Given the description of an element on the screen output the (x, y) to click on. 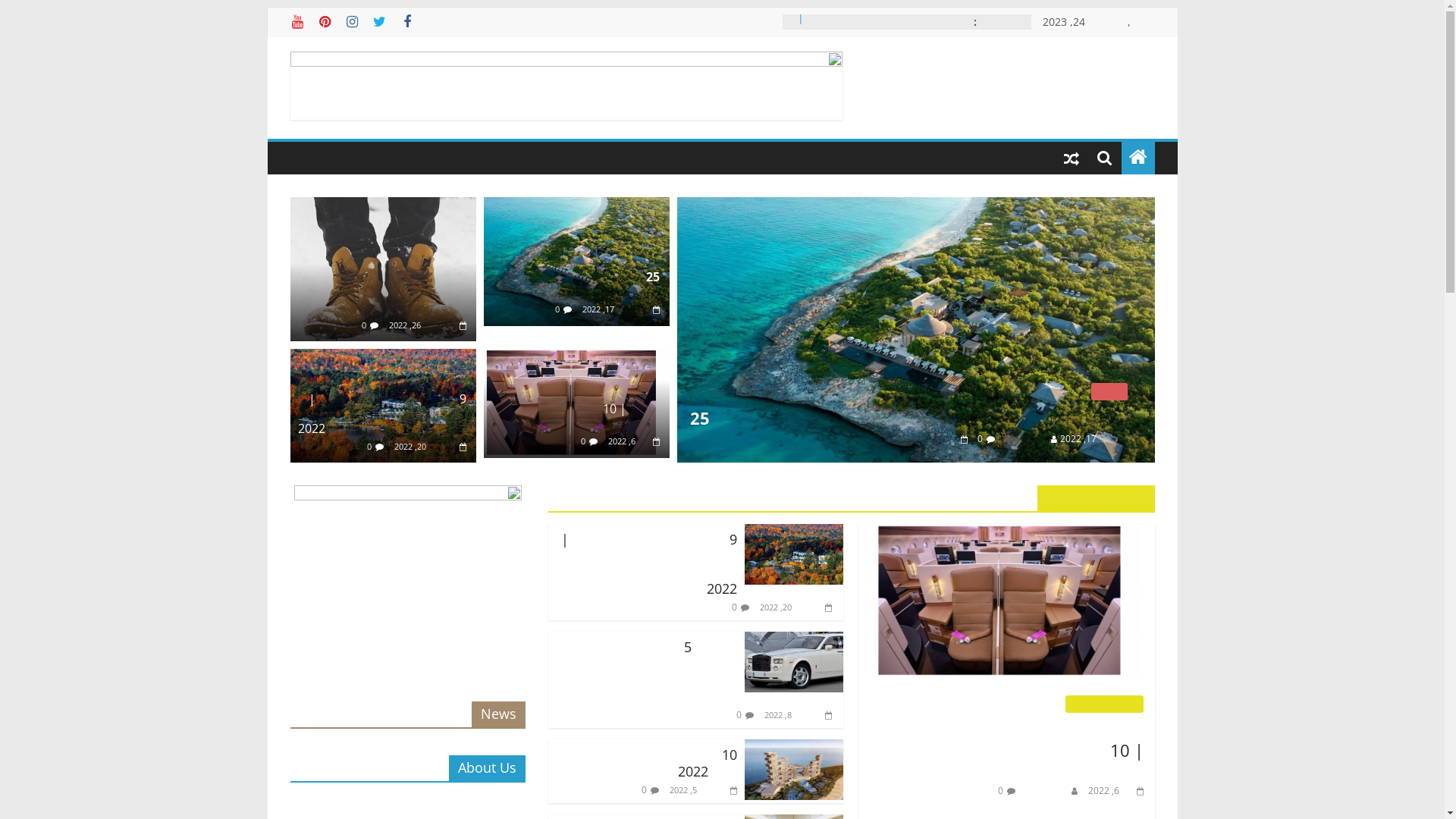
Skip to content Element type: text (1176, 6)
0 Element type: text (369, 445)
0 Element type: text (979, 489)
0 Element type: text (363, 324)
0 Element type: text (738, 758)
0 Element type: text (582, 440)
0 Element type: text (557, 308)
0 Element type: text (734, 650)
